Given the description of an element on the screen output the (x, y) to click on. 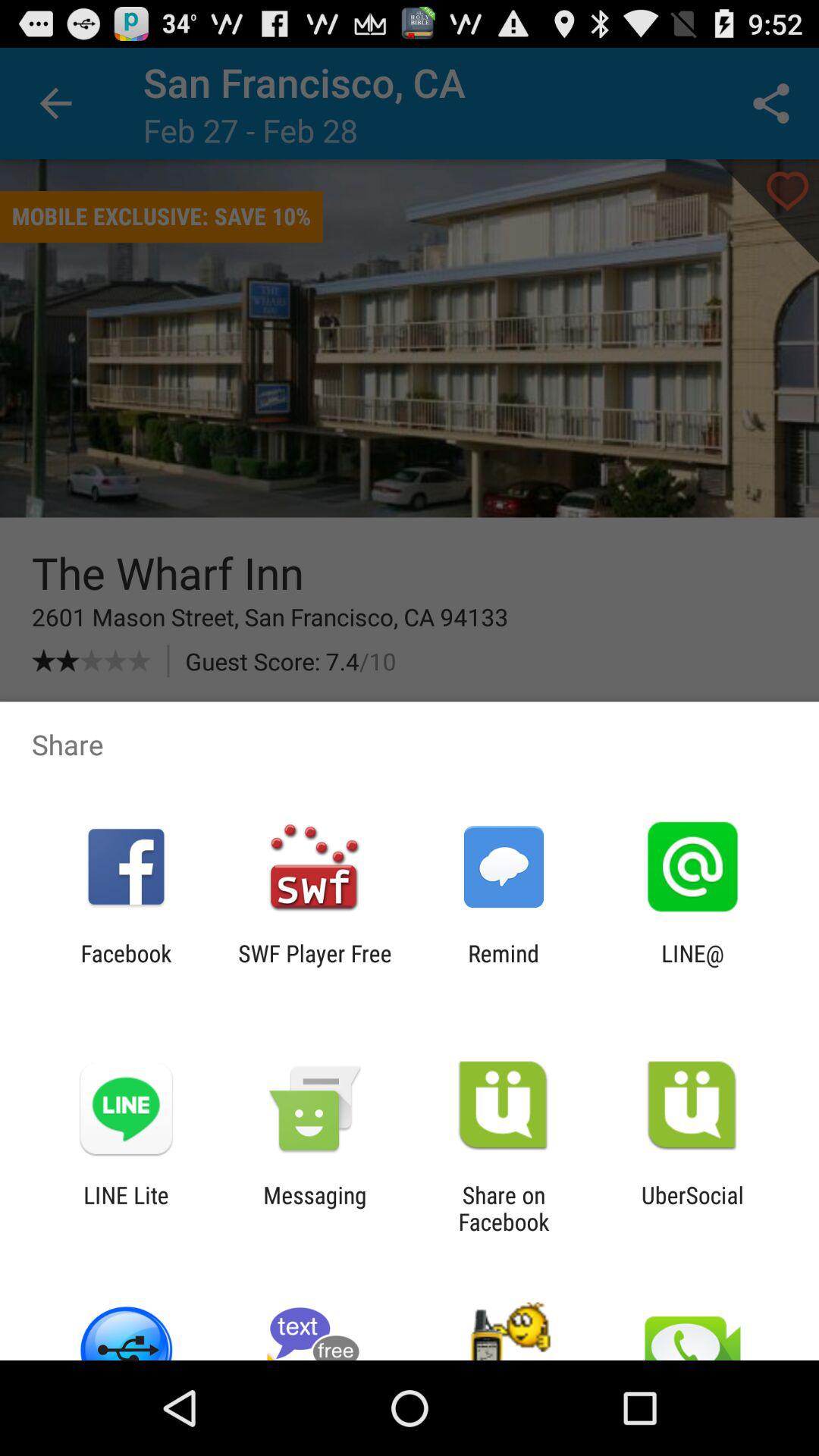
scroll until line lite (125, 1208)
